Given the description of an element on the screen output the (x, y) to click on. 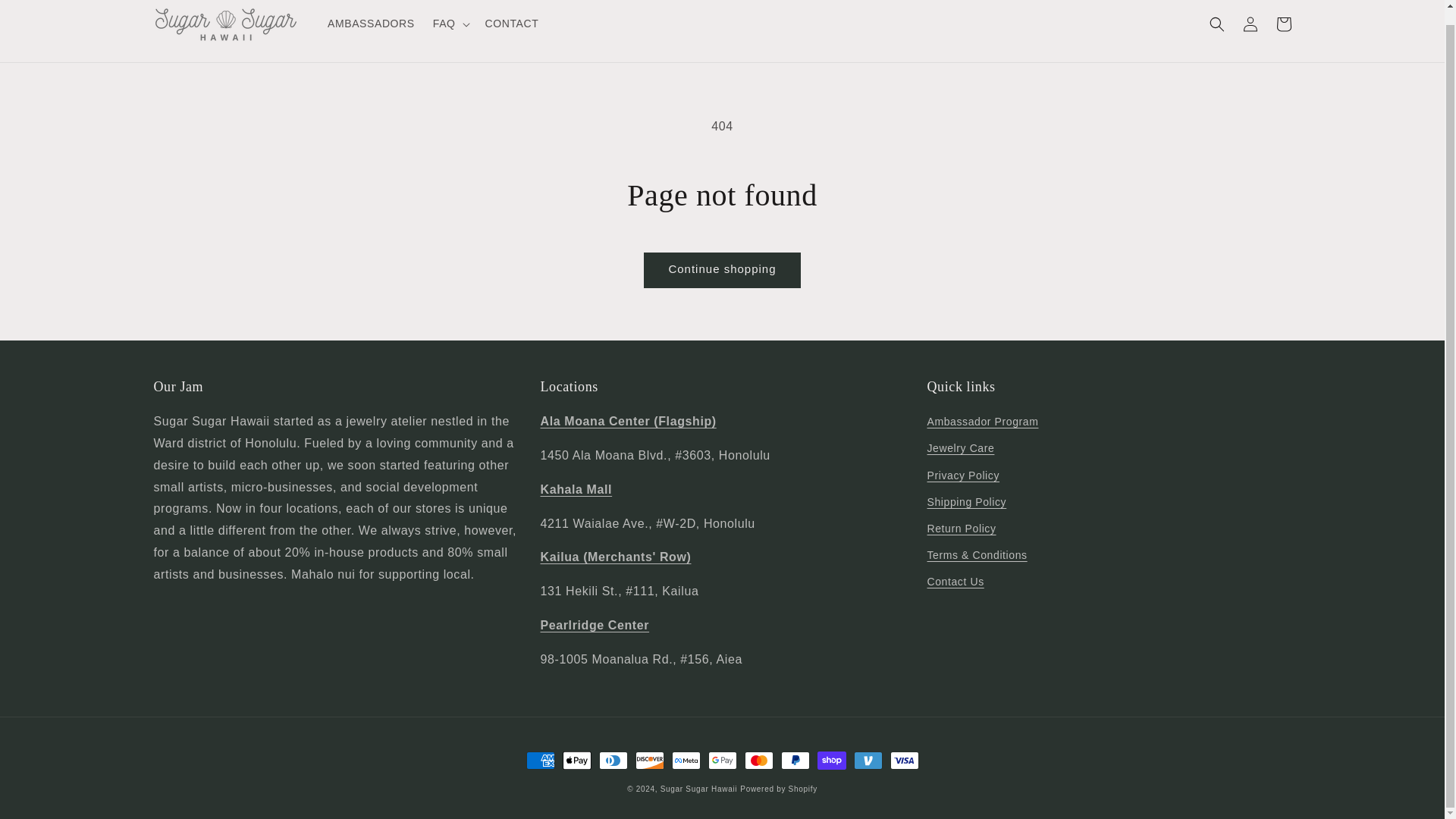
Shipping Policy (966, 501)
AMBASSADORS (370, 23)
CONTACT (512, 23)
Cart (1283, 23)
Privacy Policy (962, 475)
Ambassador Program (982, 423)
Return Policy (960, 528)
Kahala Mall (575, 489)
Jewelry Care (960, 447)
Pearlridge Center (594, 625)
